Given the description of an element on the screen output the (x, y) to click on. 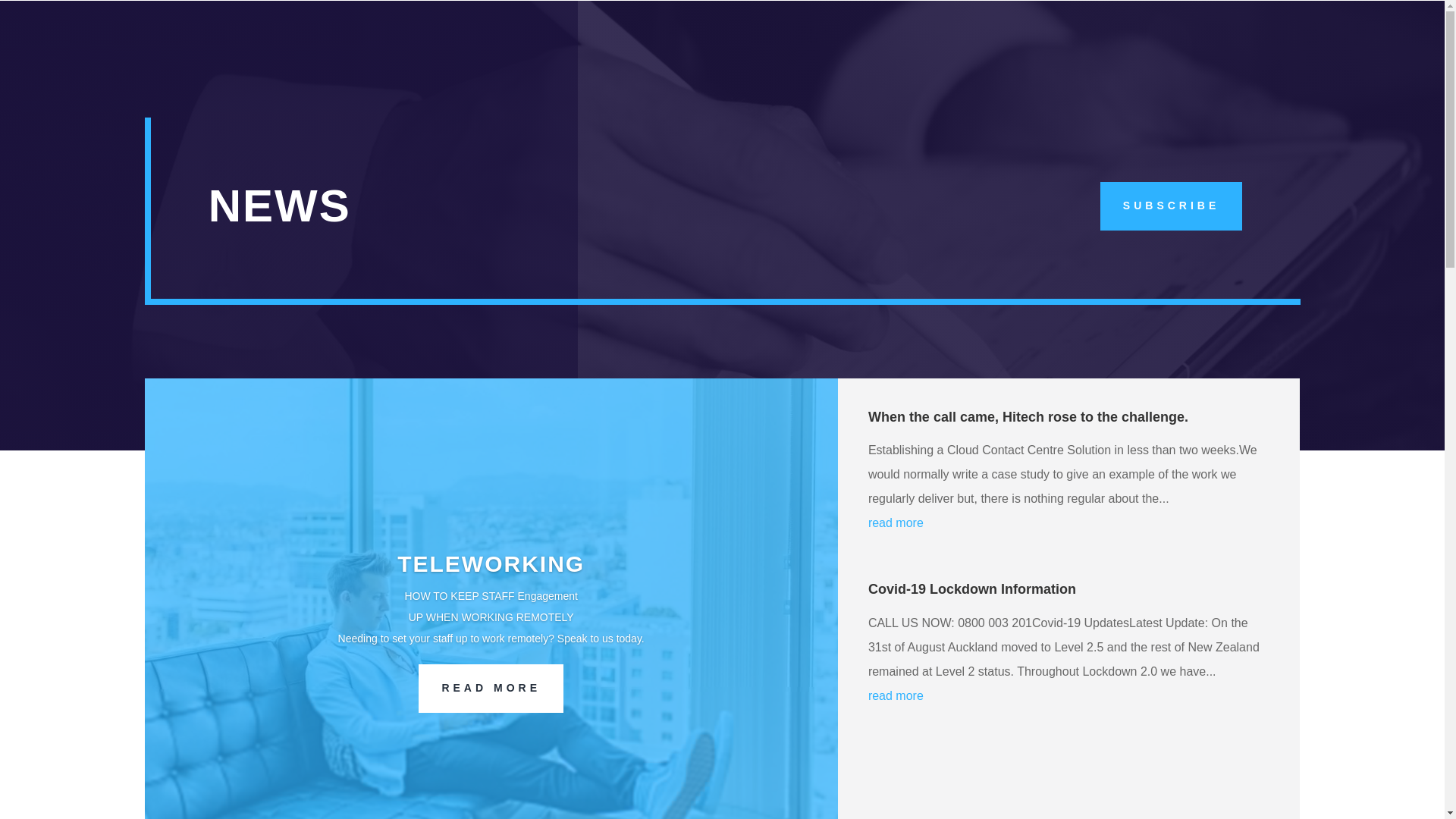
READ MORE (491, 728)
When the call came, Hitech rose to the challenge. (1027, 417)
SUBSCRIBE (1170, 205)
read more (1068, 695)
TELEWORKING (491, 604)
read more (1068, 523)
Covid-19 Lockdown Information (971, 589)
